Given the description of an element on the screen output the (x, y) to click on. 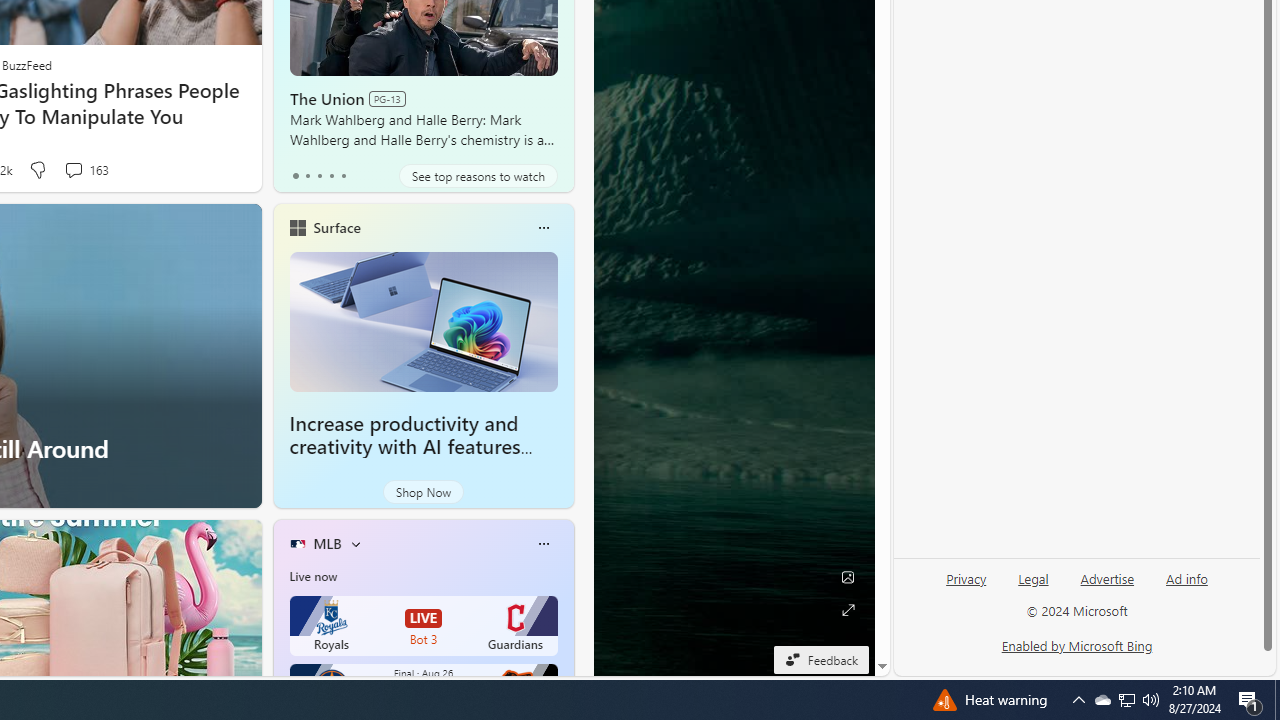
Expand background (847, 610)
tab-4 (342, 175)
Edit Background (847, 577)
Shop Now (422, 491)
tab-1 (306, 175)
tab-3 (331, 175)
Ad info (1186, 587)
More interests (355, 543)
View comments 163 Comment (73, 169)
See top reasons to watch (478, 175)
